Given the description of an element on the screen output the (x, y) to click on. 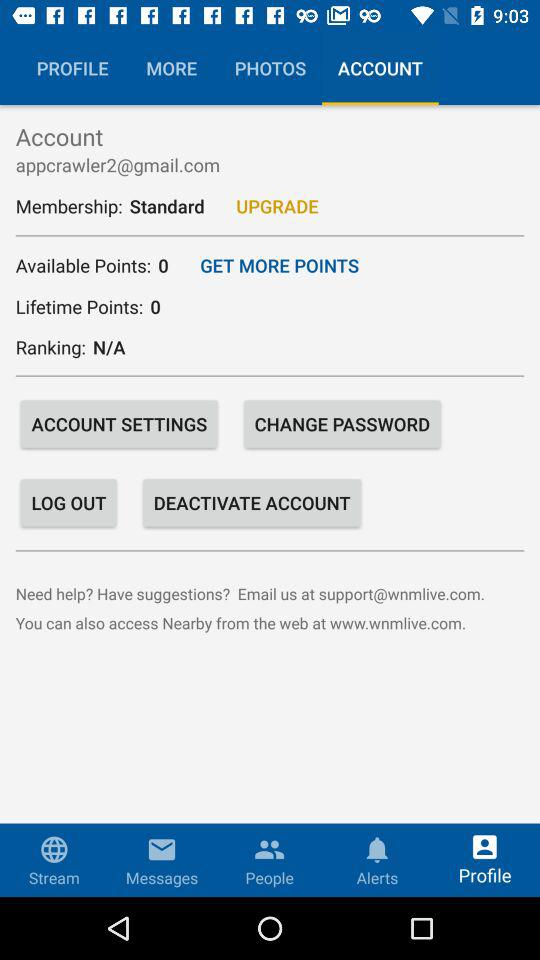
scroll until the account settings icon (119, 423)
